Given the description of an element on the screen output the (x, y) to click on. 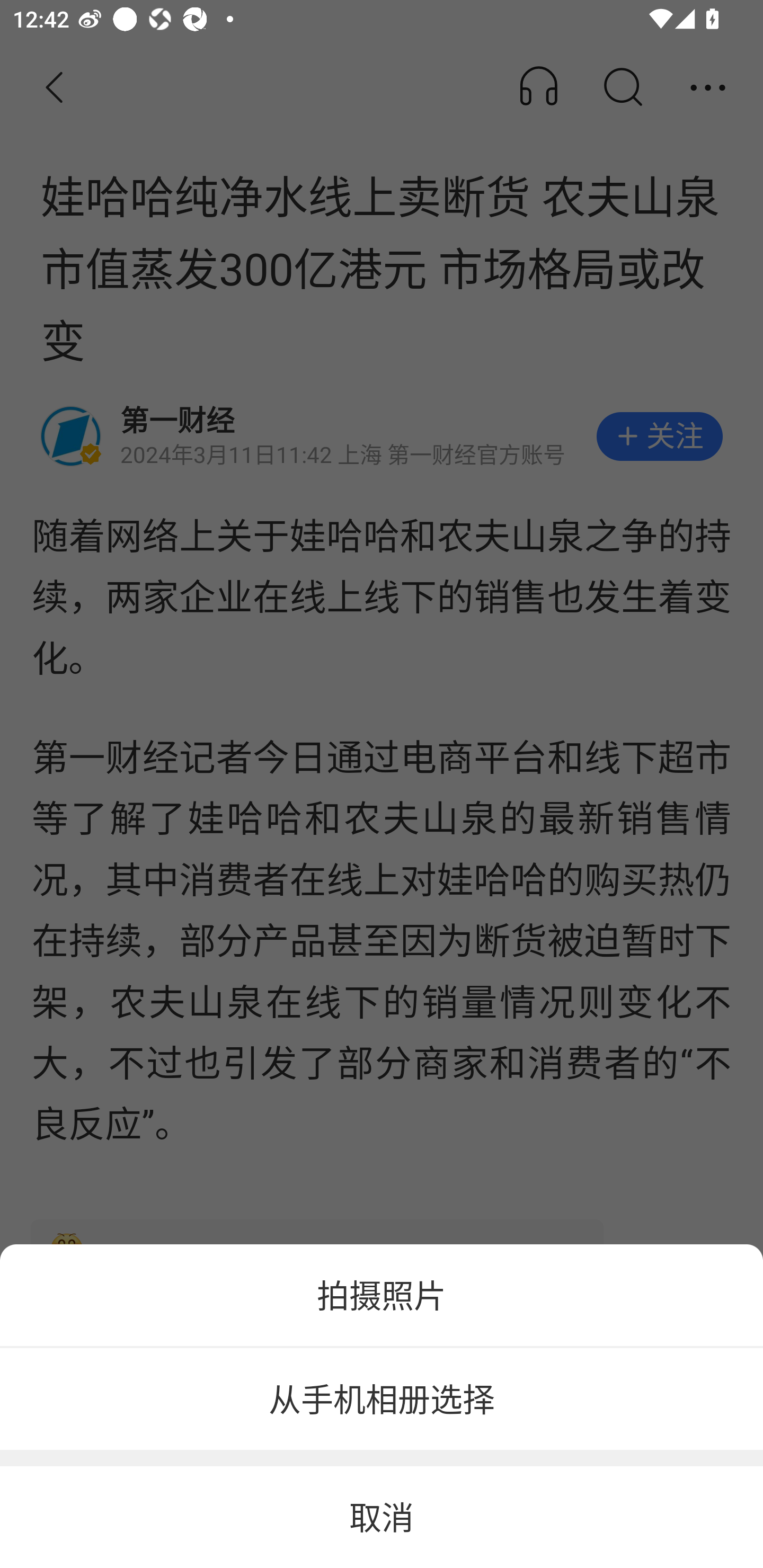
拍摄照片 (381, 1294)
从手机相册选择 (381, 1399)
取消 (381, 1517)
